Given the description of an element on the screen output the (x, y) to click on. 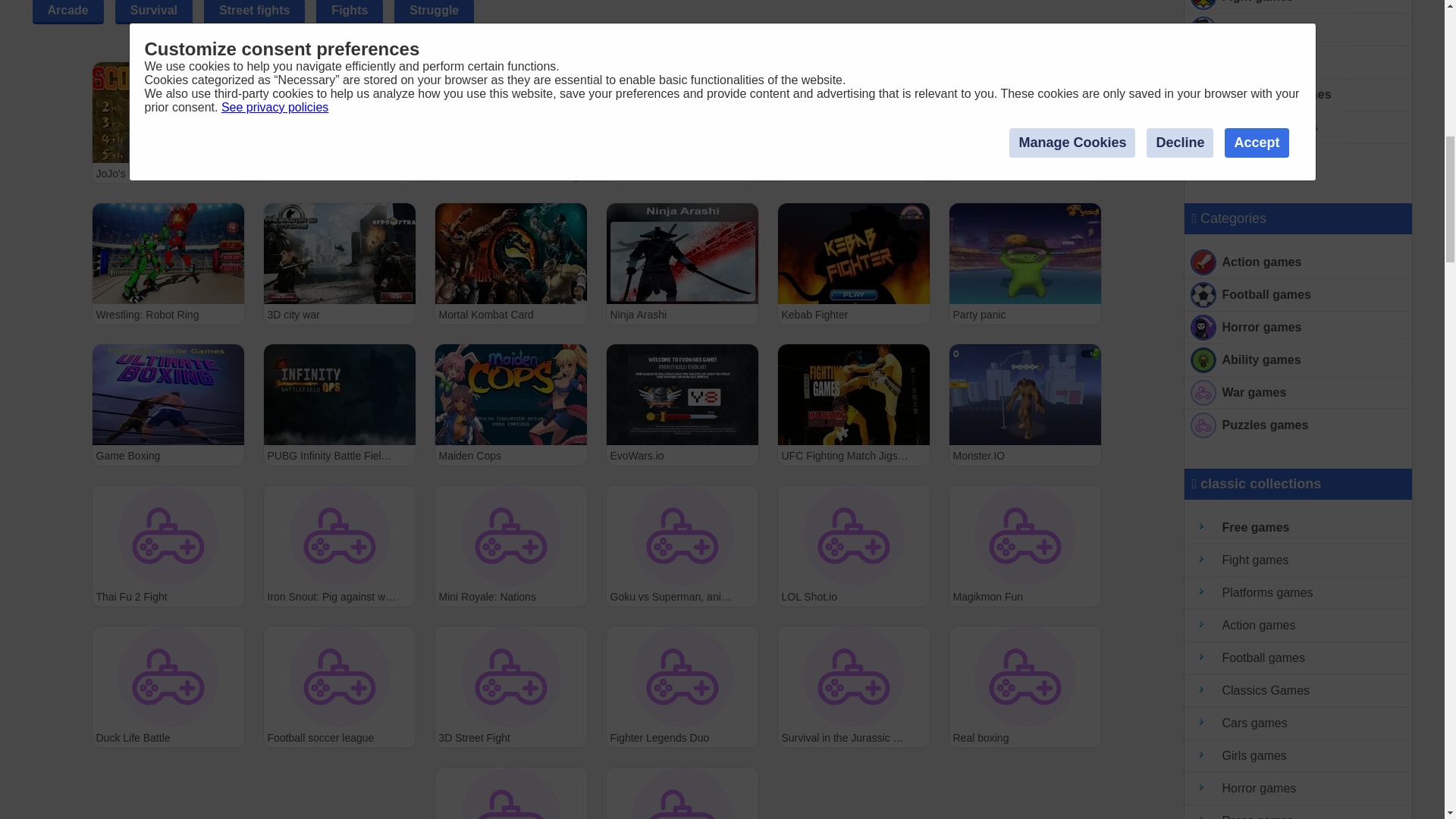
Superheros games (1298, 94)
Free games (1298, 527)
War games (1298, 392)
Football games (1298, 295)
Ability games (1298, 359)
Puzzles games (1298, 425)
Fight games (1298, 6)
Free Fight games, Fight and fights (1298, 6)
Free Boxing games, Boxing ring (1298, 61)
Fight games (1298, 560)
